Given the description of an element on the screen output the (x, y) to click on. 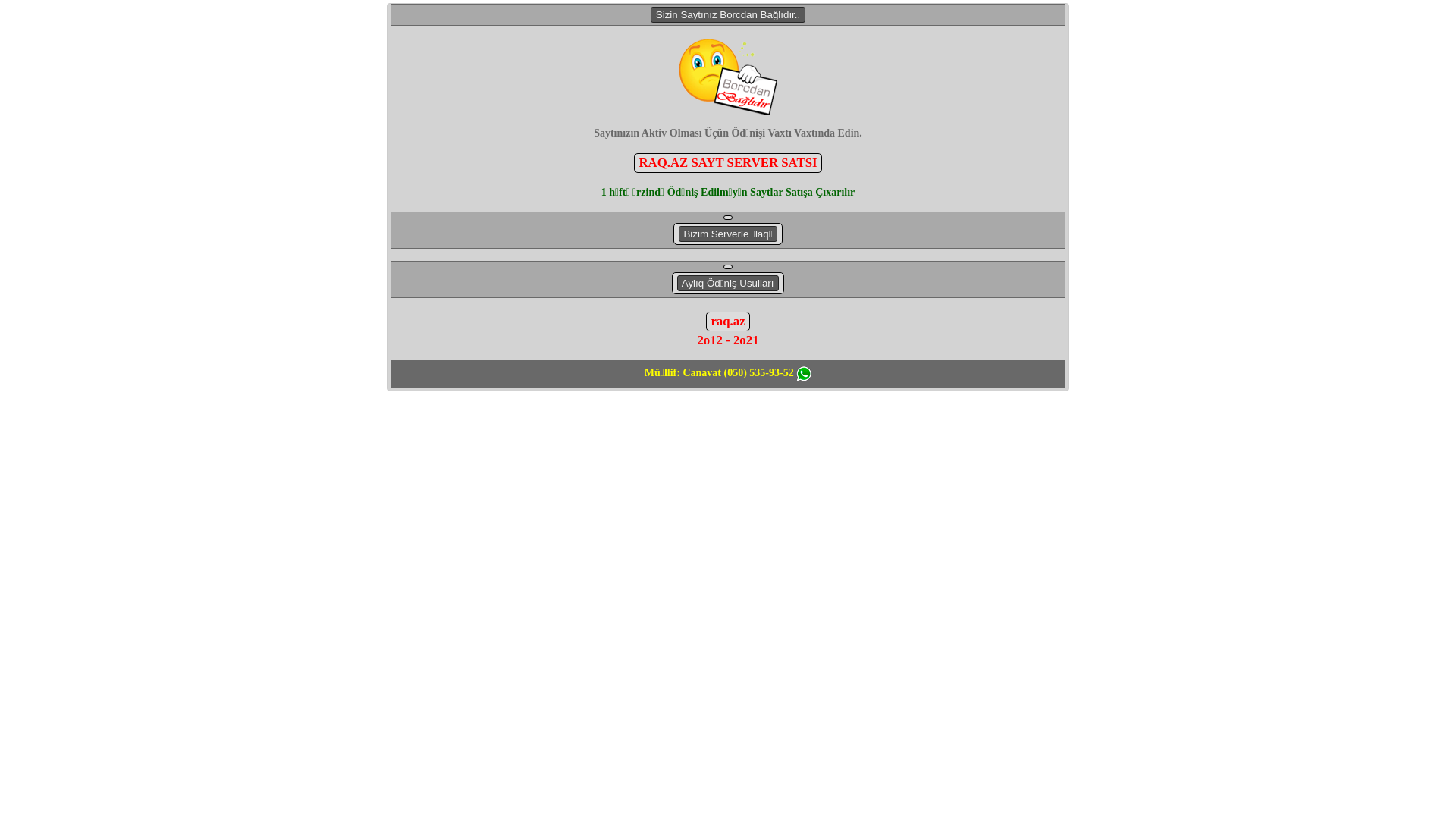
raq.az Element type: text (727, 321)
RAQ.AZ SAYT SERVER SATSI Element type: text (727, 162)
